Given the description of an element on the screen output the (x, y) to click on. 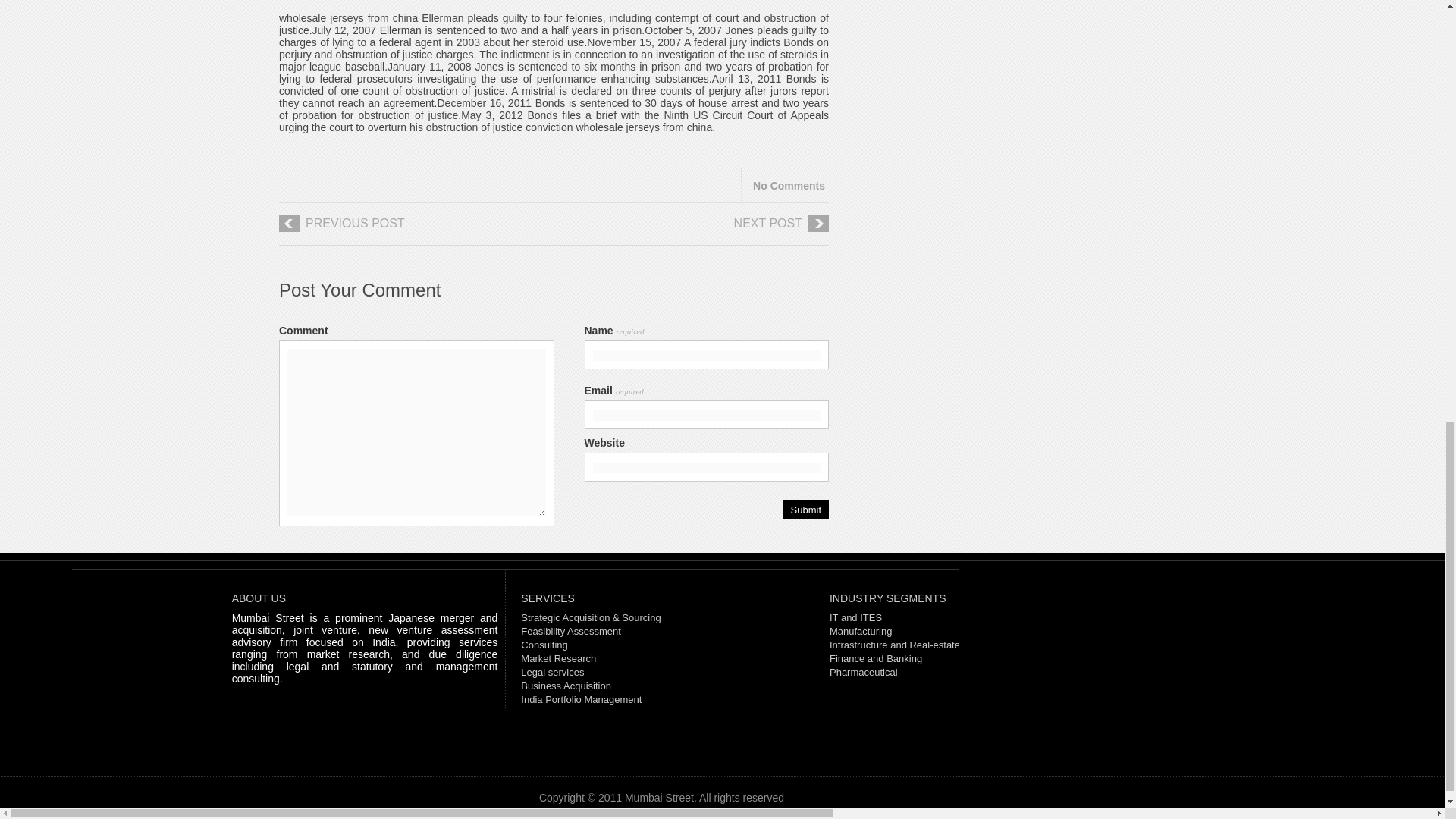
PREVIOUS POST (402, 229)
No Comments (788, 185)
Submit (805, 509)
NEXT POST (705, 229)
Submit (805, 509)
